Given the description of an element on the screen output the (x, y) to click on. 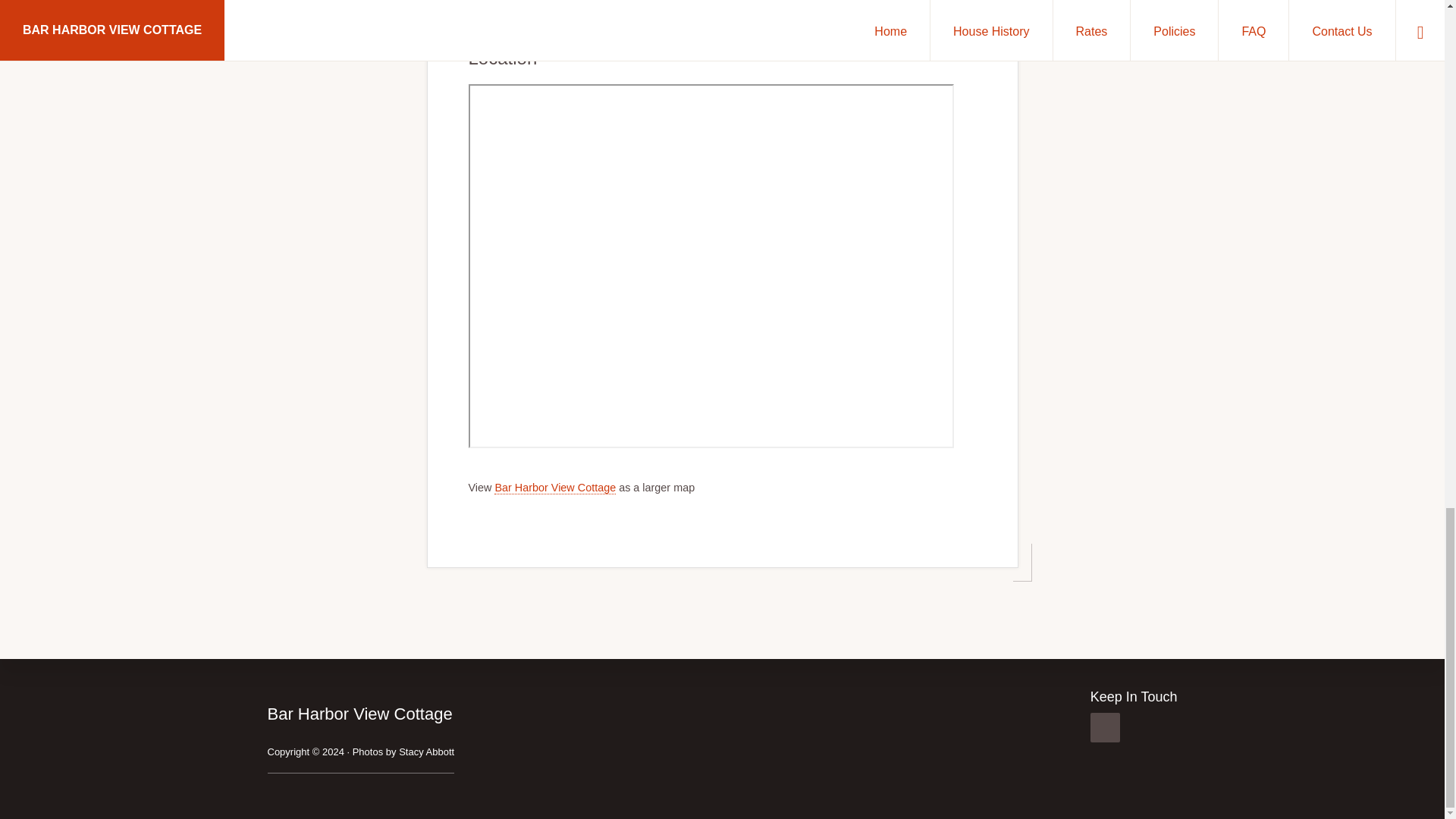
Bar Harbor View Cottage (555, 487)
